Given the description of an element on the screen output the (x, y) to click on. 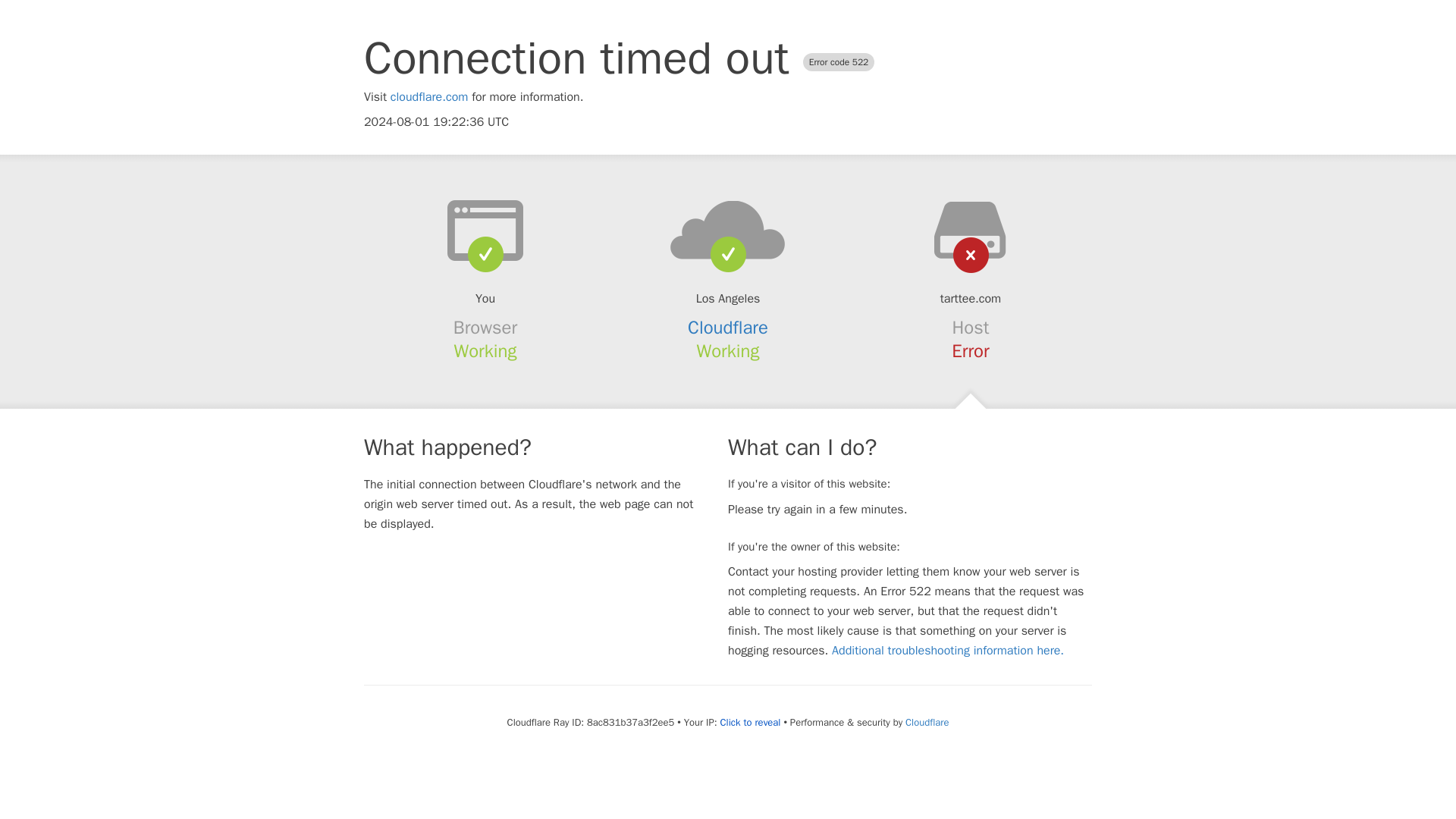
Cloudflare (927, 721)
Additional troubleshooting information here. (947, 650)
Click to reveal (750, 722)
Cloudflare (727, 327)
cloudflare.com (429, 96)
